Given the description of an element on the screen output the (x, y) to click on. 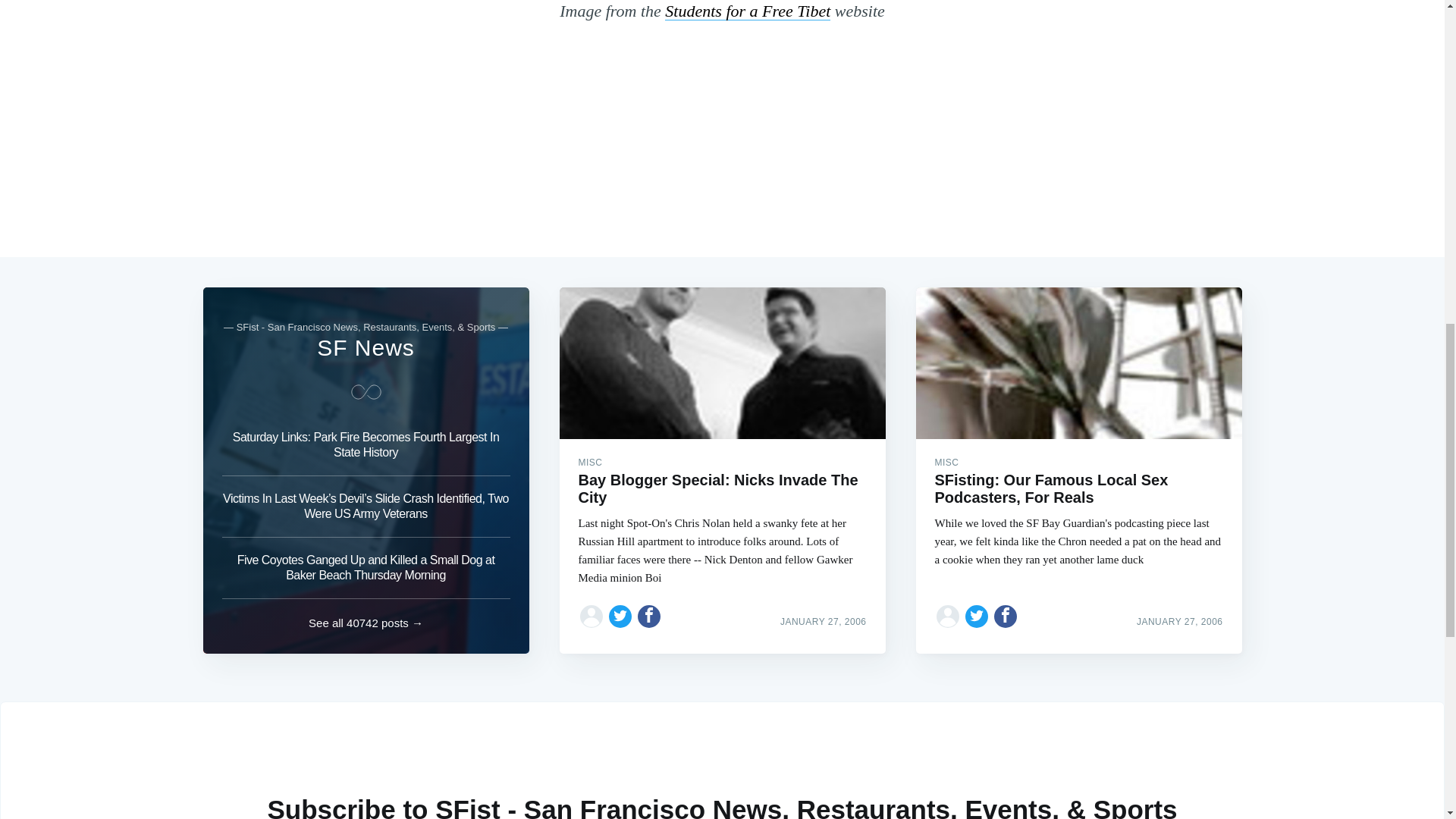
Share on Twitter (620, 616)
SF News (365, 347)
Share on Facebook (649, 616)
Students for a Free Tibet (747, 10)
Share on Facebook (1004, 616)
Share on Twitter (976, 616)
